Given the description of an element on the screen output the (x, y) to click on. 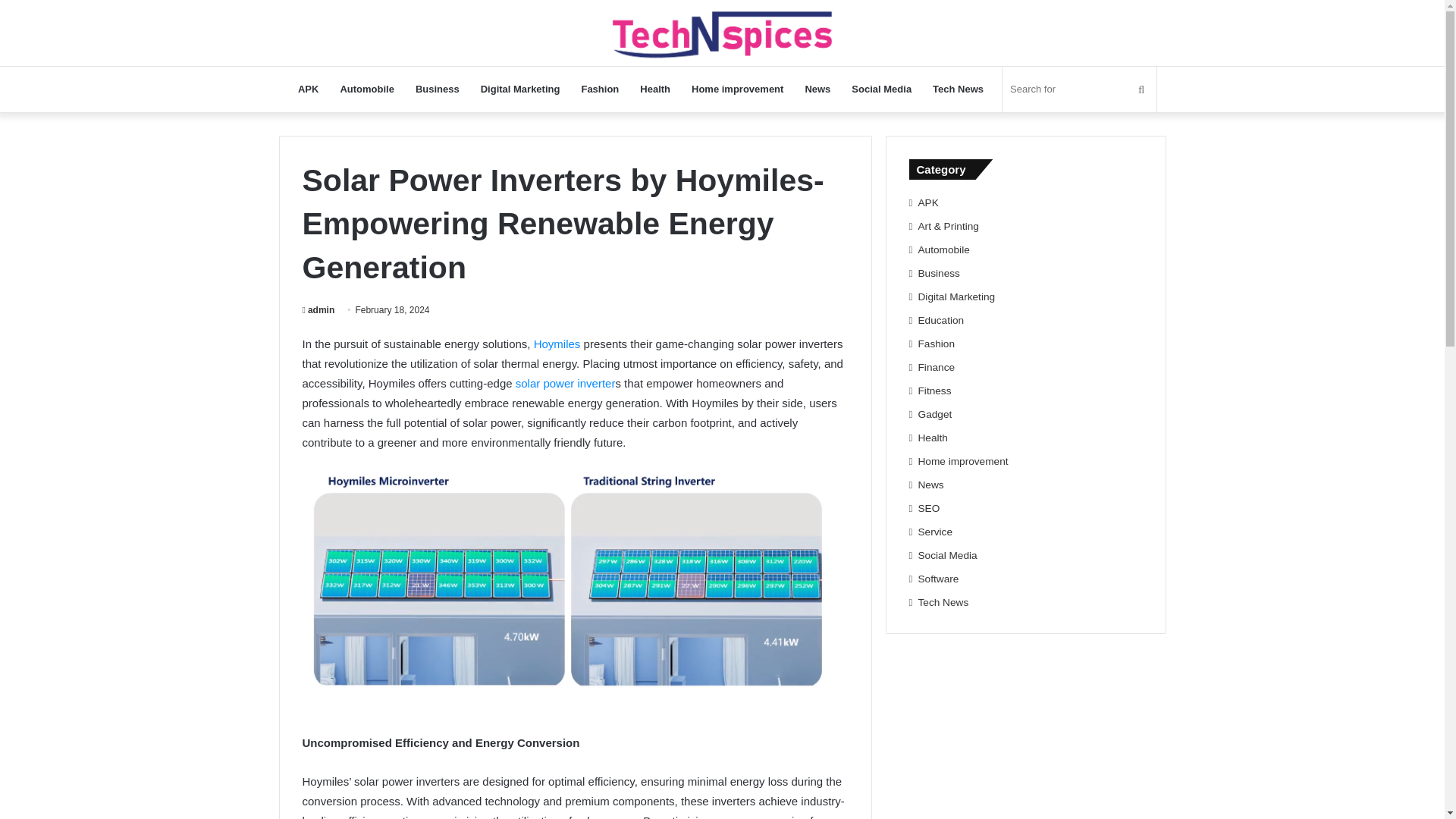
Hoymiles (557, 343)
Home improvement (737, 89)
Home improvement (963, 460)
admin (317, 309)
Health (654, 89)
Fashion (599, 89)
APK (928, 202)
Software (938, 578)
Health (932, 437)
APK (307, 89)
